Given the description of an element on the screen output the (x, y) to click on. 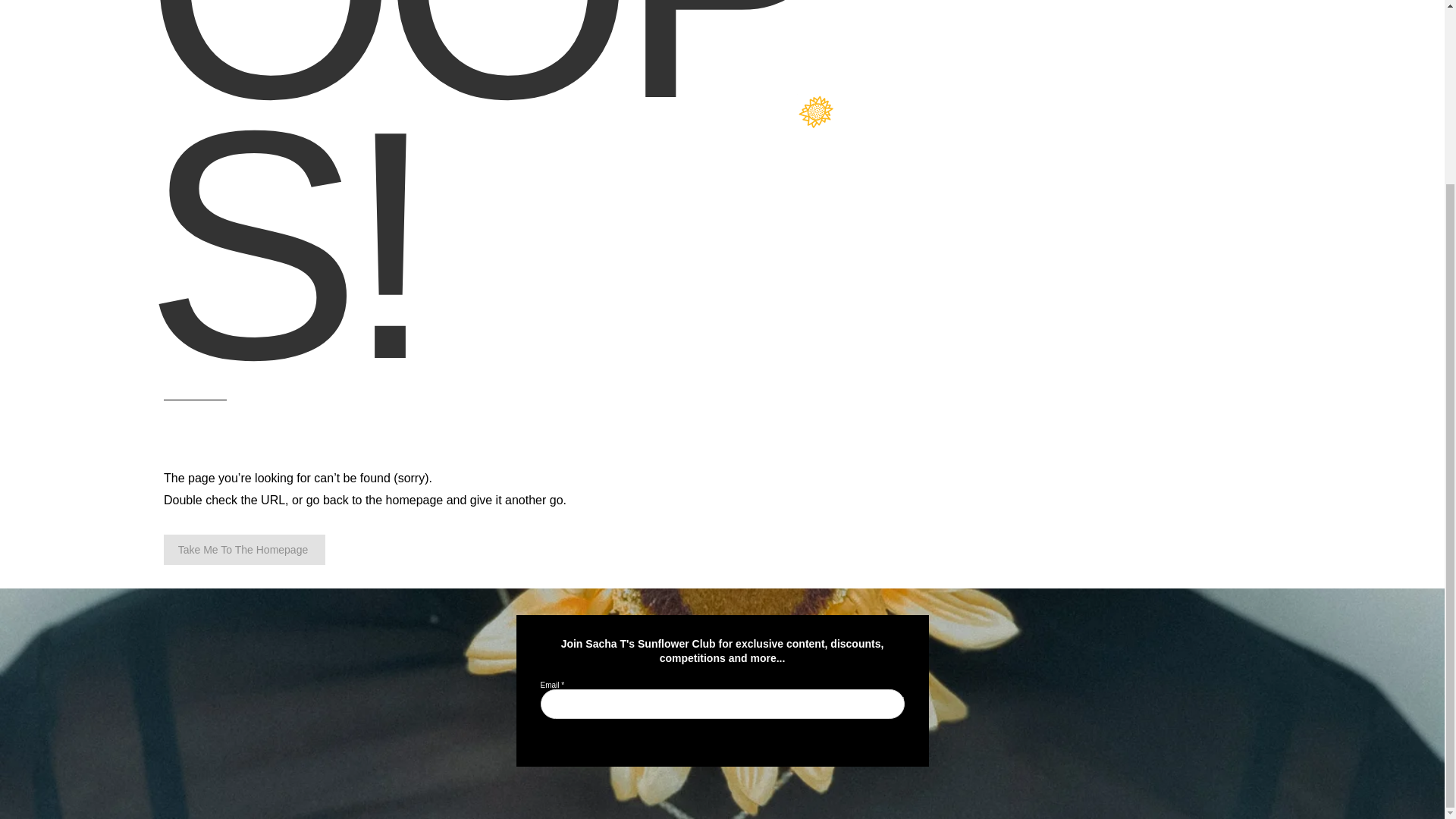
Sunflower LOGO.png (815, 111)
Take Me To The Homepage (243, 549)
